Given the description of an element on the screen output the (x, y) to click on. 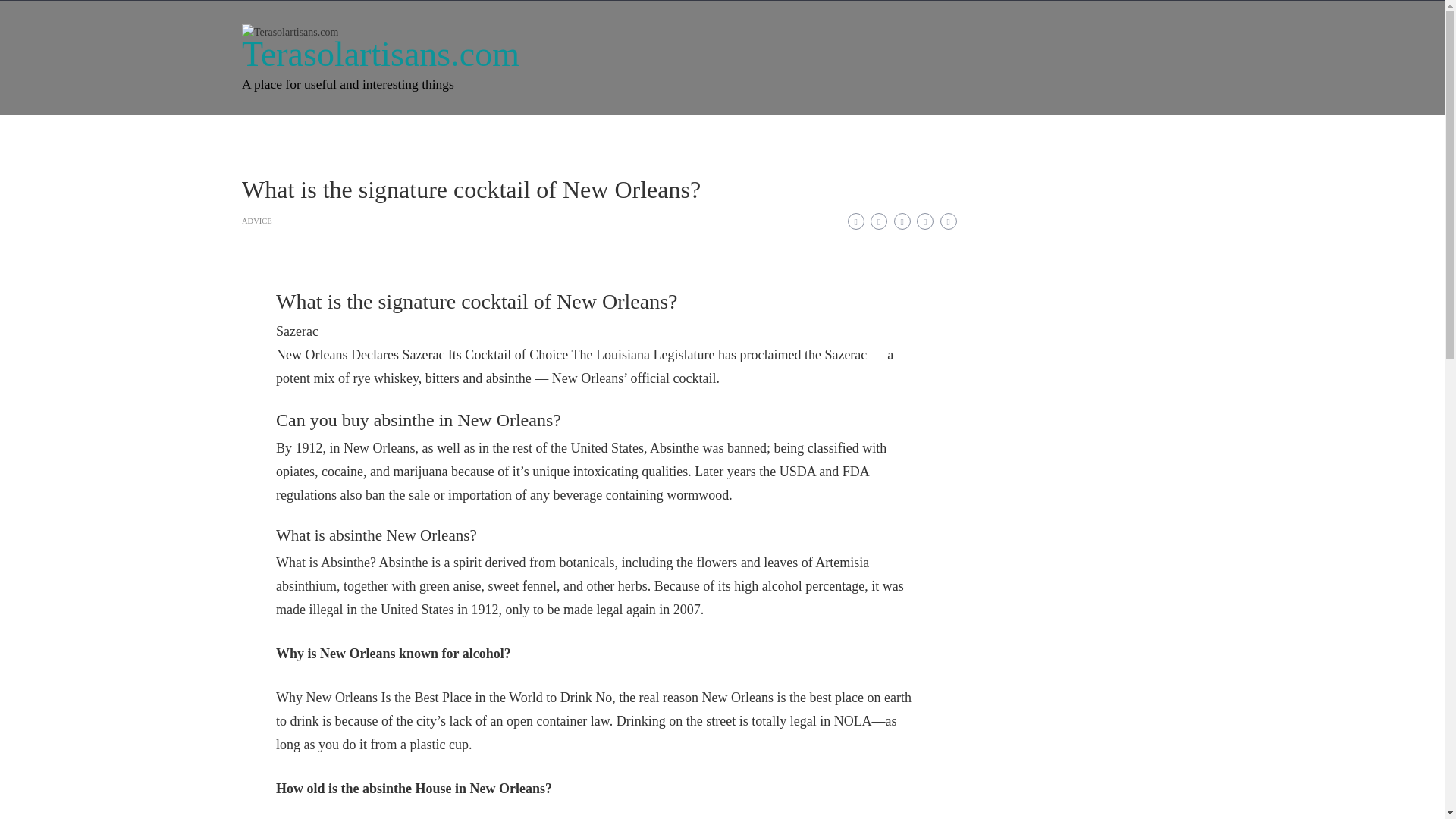
Feedback (760, 134)
ADVICE (256, 221)
Mixed (602, 134)
Life (414, 134)
Interesting (346, 134)
Terasolartisans.com (380, 54)
Home (273, 134)
Notes (472, 134)
Advice (536, 134)
Helpful tips (679, 134)
